Given the description of an element on the screen output the (x, y) to click on. 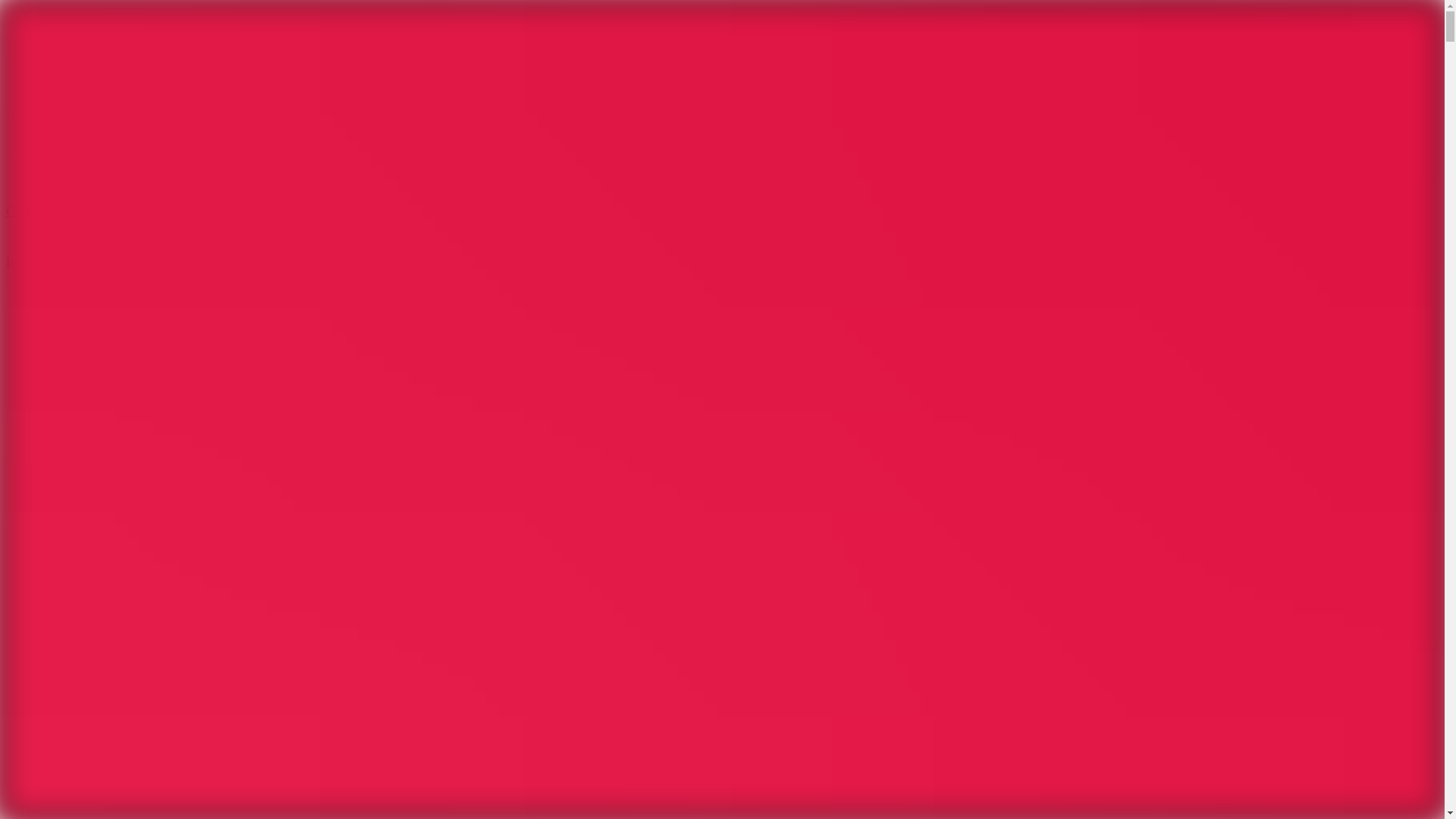
Red Overview (41, 260)
Give (29, 275)
Contact (24, 210)
